Given the description of an element on the screen output the (x, y) to click on. 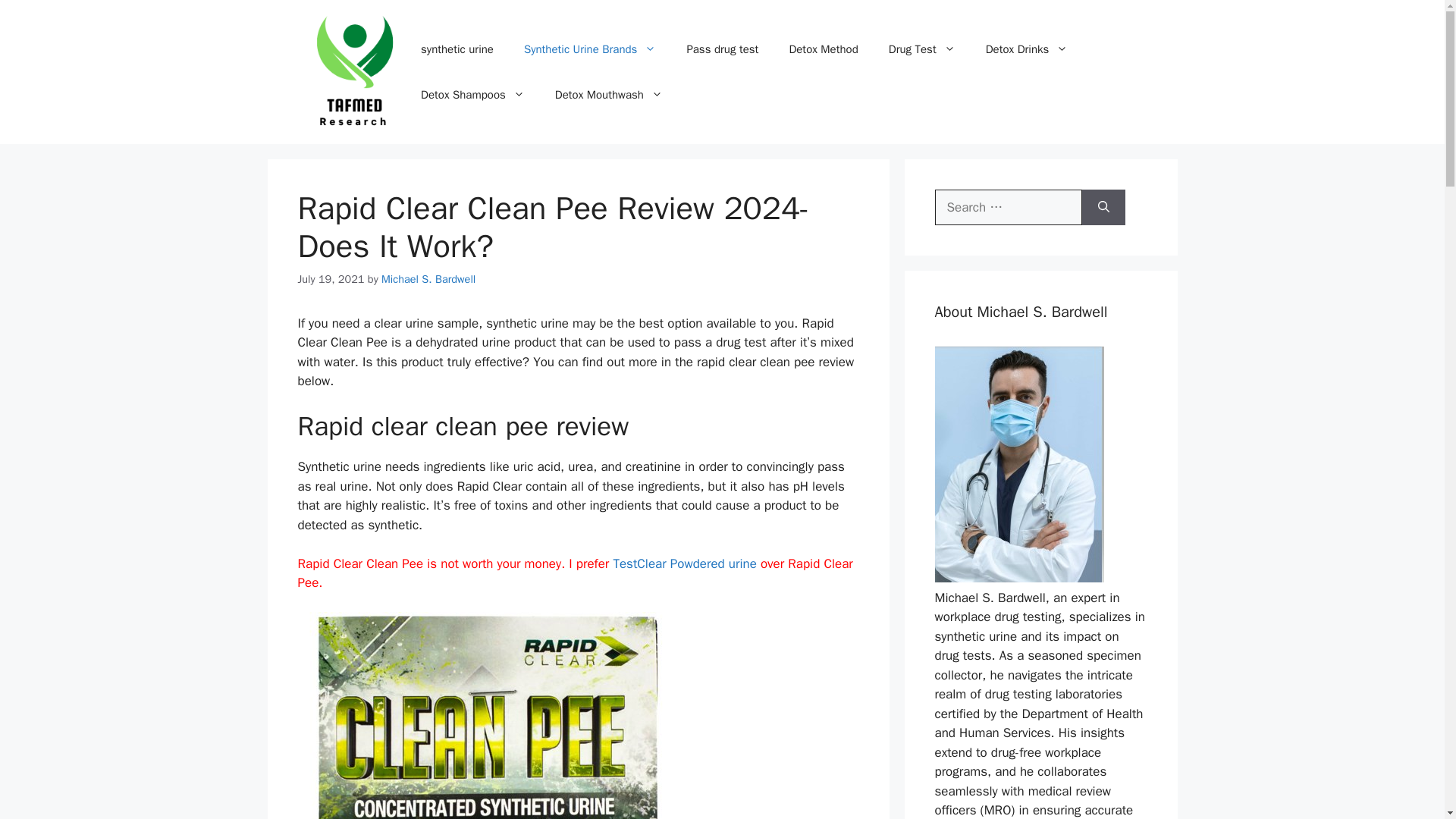
View all posts by Michael S. Bardwell (428, 278)
Detox Shampoos (473, 94)
Pass drug test (722, 49)
synthetic urine (457, 49)
Search for: (1007, 207)
Synthetic Urine Brands (589, 49)
Drug Test (922, 49)
Detox Drinks (1027, 49)
Detox Method (822, 49)
